Given the description of an element on the screen output the (x, y) to click on. 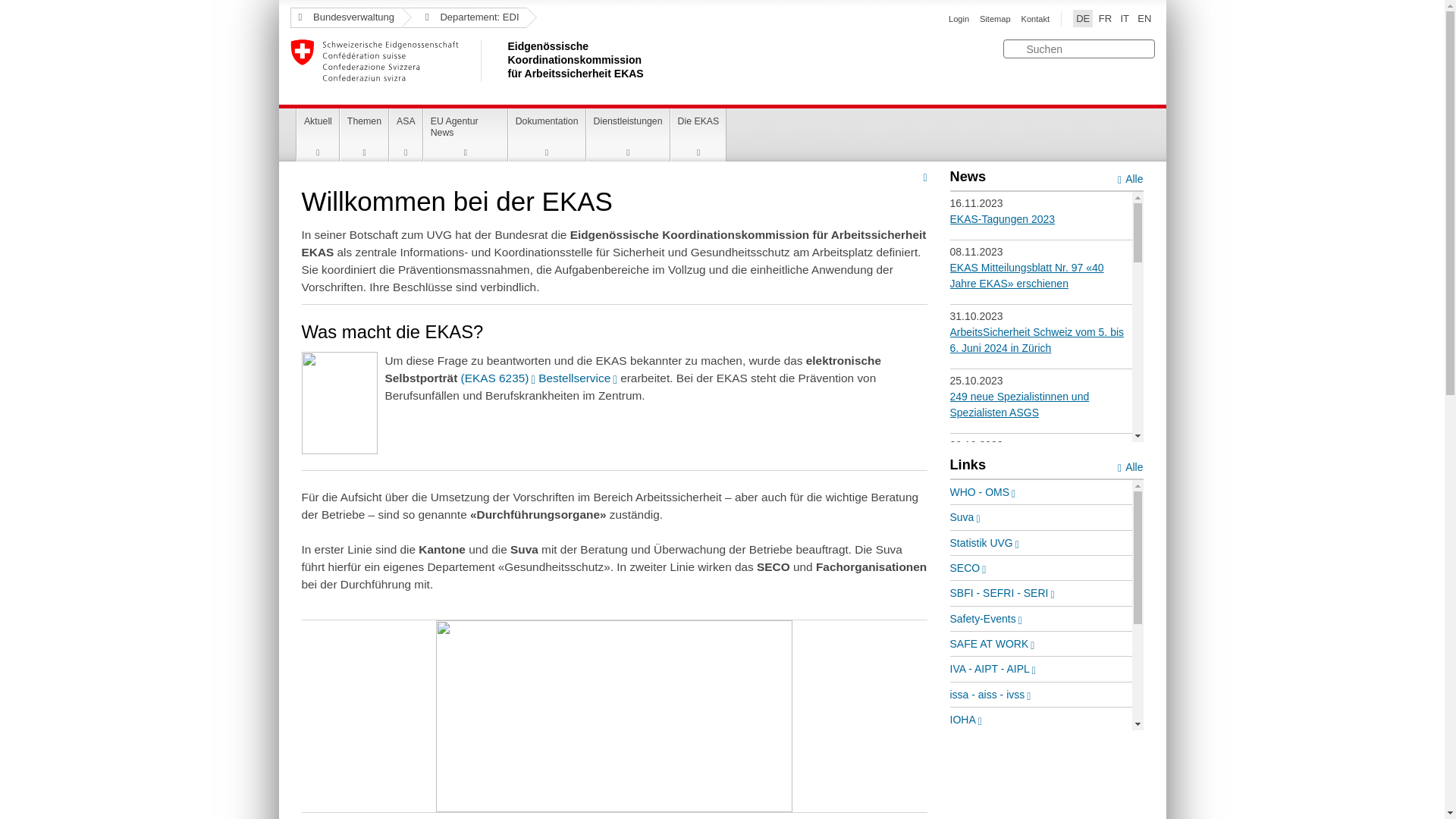
Statistik UVG Element type: text (983, 542)
ILO - OIT - IAO Element type: text (988, 745)
IOHA Element type: text (965, 719)
Login Element type: text (958, 18)
(EKAS 6235) Element type: text (498, 377)
Der EKAS Jahresbericht 2022 ist erschienen! Element type: text (1026, 726)
Die EKAS Element type: text (698, 134)
IVA - AIPT - AIPL Element type: text (992, 668)
FR Element type: text (1104, 18)
ASA Element type: text (405, 134)
EU Agentur News Element type: text (465, 134)
Dienstleistungen Element type: text (627, 134)
issa - aiss - ivss Element type: text (989, 694)
SECO Element type: text (967, 567)
Dokumentation Element type: text (546, 134)
EN Element type: text (1144, 18)
Bundesverwaltung Element type: text (345, 17)
249 neue Spezialistinnen und Spezialisten ASGS Element type: text (1018, 404)
EKAS-Tagungen 2023 Element type: text (1001, 219)
Themen Element type: text (364, 134)
Kontakt Element type: text (1034, 18)
Safety-Events Element type: text (985, 618)
Sitemap Element type: text (994, 18)
17 neue EKAS Sicherheitsingenieure/-innen diplomiert Element type: text (1039, 597)
Bestellservice Element type: text (577, 377)
EU-OSHA Element type: text (976, 795)
WHO - OMS Element type: text (982, 492)
ICOH - CIST Element type: text (982, 770)
IT Element type: text (1124, 18)
Suva Element type: text (964, 517)
SBFI - SEFRI - SERI Element type: text (1001, 592)
DE Element type: text (1082, 18)
Departement: EDI Element type: text (464, 17)
Alle Element type: text (1129, 466)
Seite drucken Element type: hover (924, 177)
Alle Element type: text (1129, 178)
SAFE AT WORK Element type: text (991, 643)
Aktuell Element type: text (317, 134)
